Given the description of an element on the screen output the (x, y) to click on. 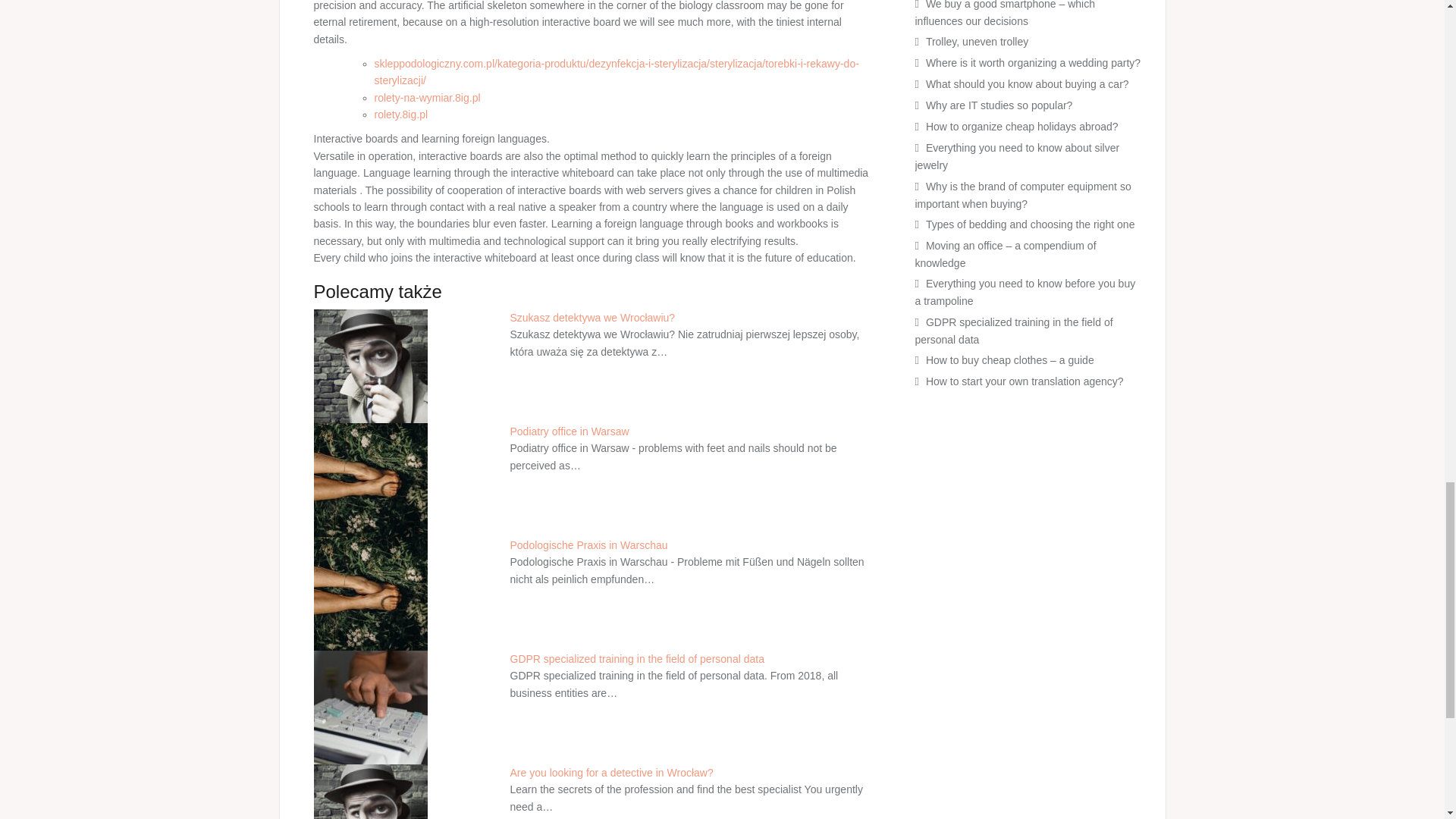
GDPR specialized training in the field of personal data (635, 658)
rolety.8ig.pl (401, 114)
rolety-na-wymiar.8ig.pl (427, 97)
Podiatry office in Warsaw (568, 431)
Podologische Praxis in Warschau (587, 544)
